Given the description of an element on the screen output the (x, y) to click on. 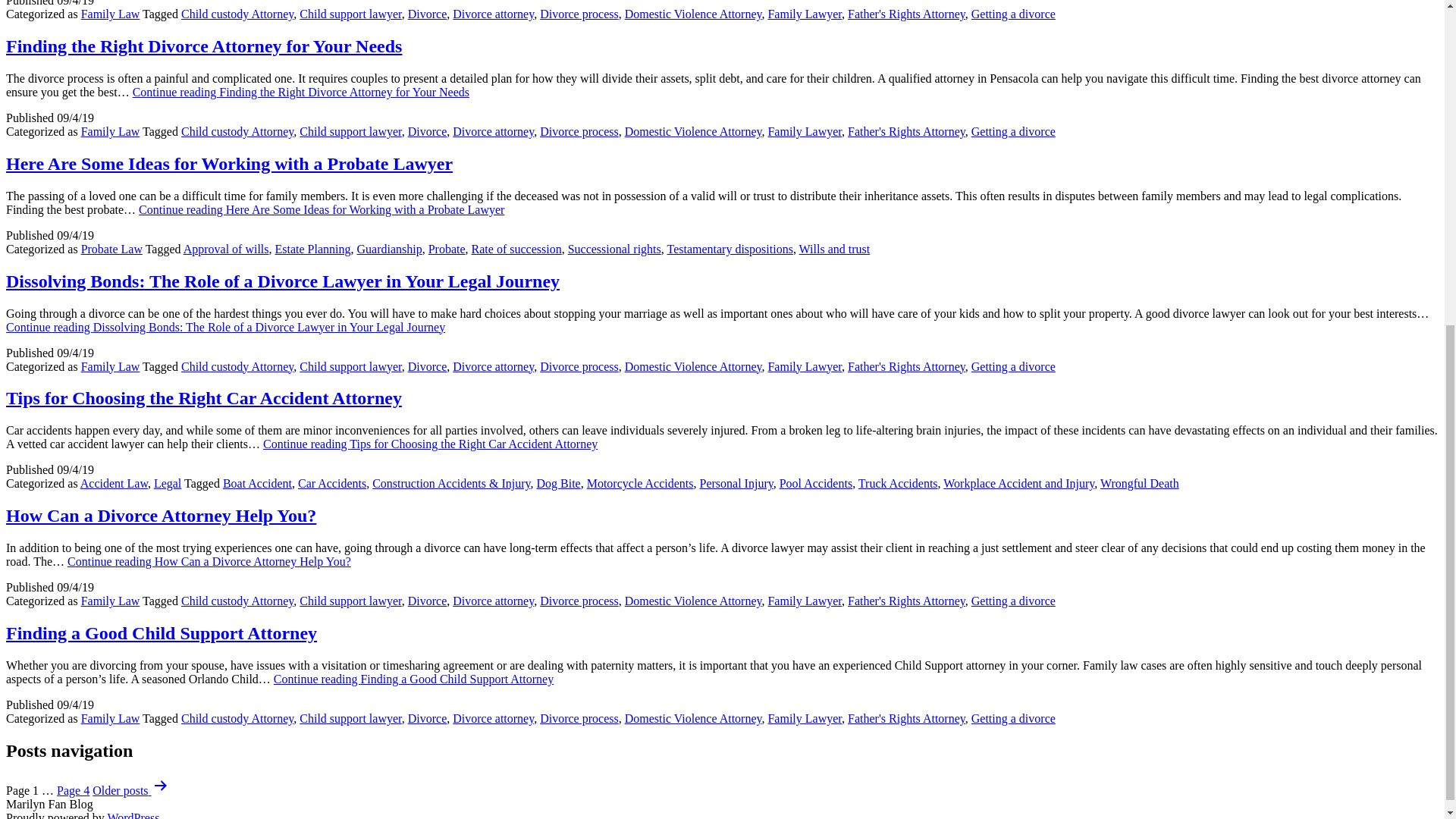
Family Law (110, 13)
